Given the description of an element on the screen output the (x, y) to click on. 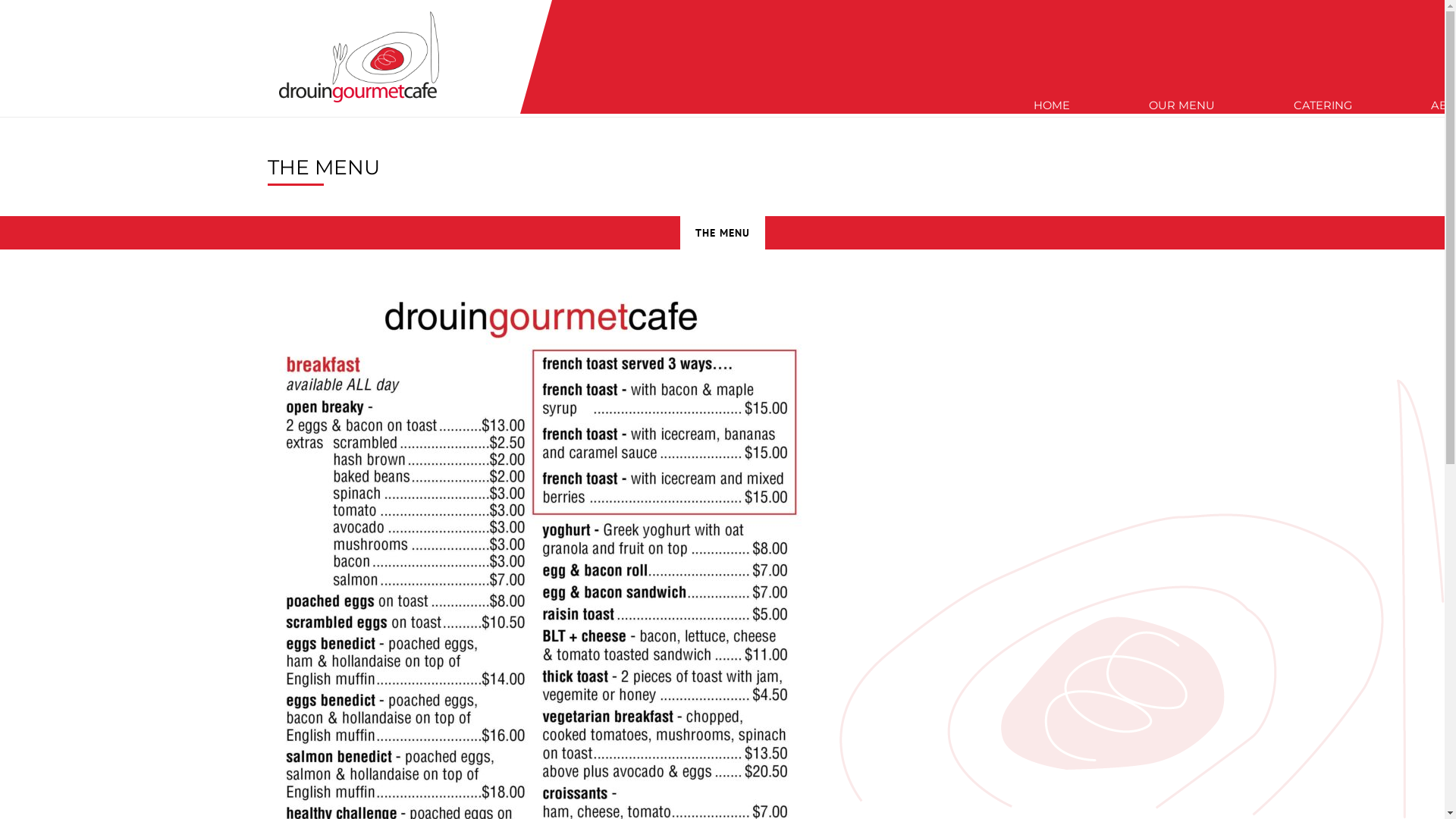
OUR MENU Element type: text (1180, 82)
HOME Element type: text (1050, 82)
CATERING Element type: text (1322, 82)
THE MENU Element type: text (721, 232)
